Given the description of an element on the screen output the (x, y) to click on. 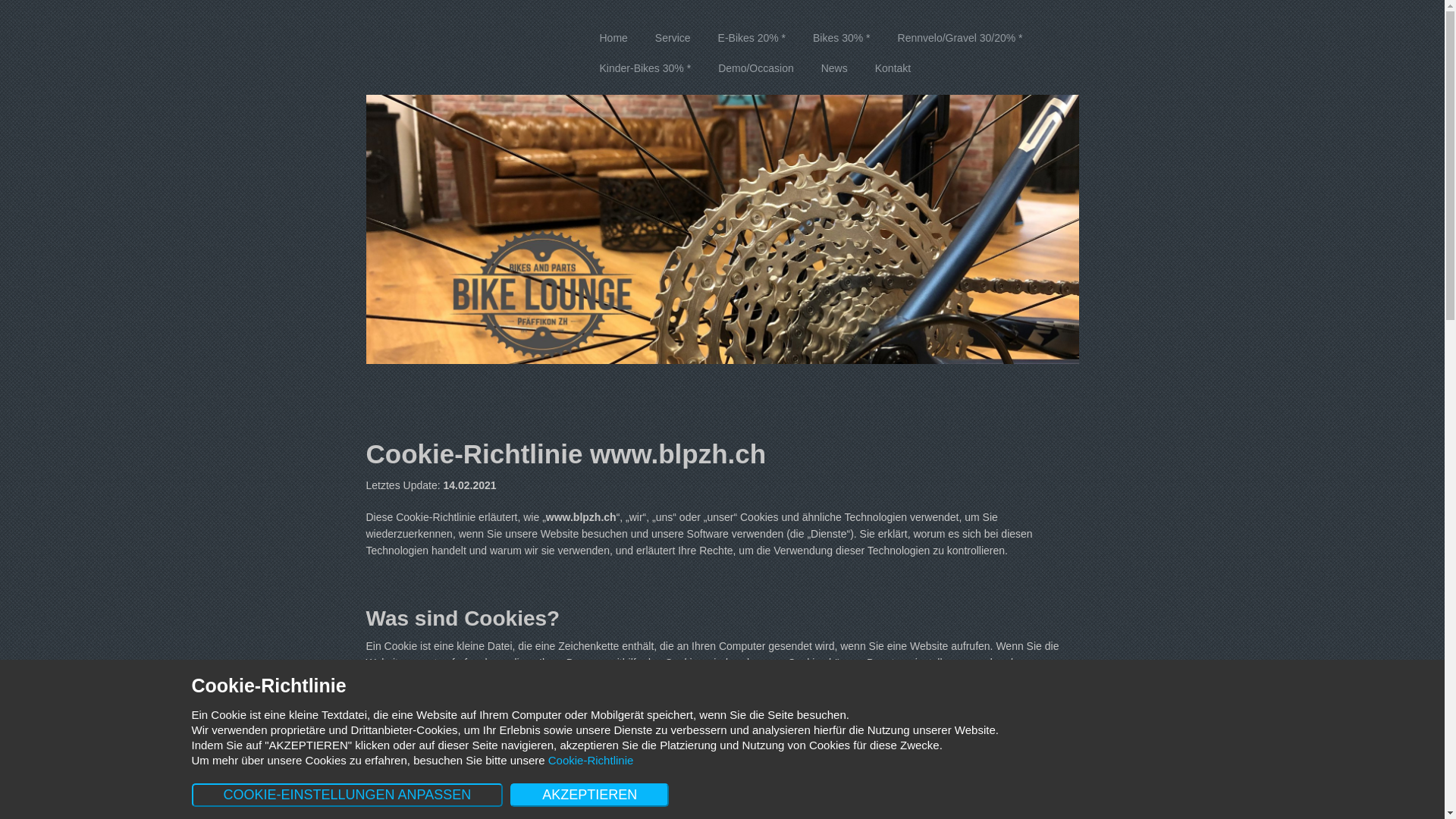
Service Element type: text (672, 37)
Kontakt Element type: text (892, 67)
Demo/Occasion Element type: text (756, 67)
COOKIE-EINSTELLUNGEN ANPASSEN Element type: text (346, 794)
E-Bikes 20% * Element type: text (751, 37)
Bikes 30% * Element type: text (840, 37)
Cookie-Richtlinie Element type: text (590, 759)
News Element type: text (834, 67)
Rennvelo/Gravel 30/20% * Element type: text (960, 37)
Home Element type: text (613, 37)
Kinder-Bikes 30% * Element type: text (644, 67)
AKZEPTIEREN Element type: text (589, 794)
